Given the description of an element on the screen output the (x, y) to click on. 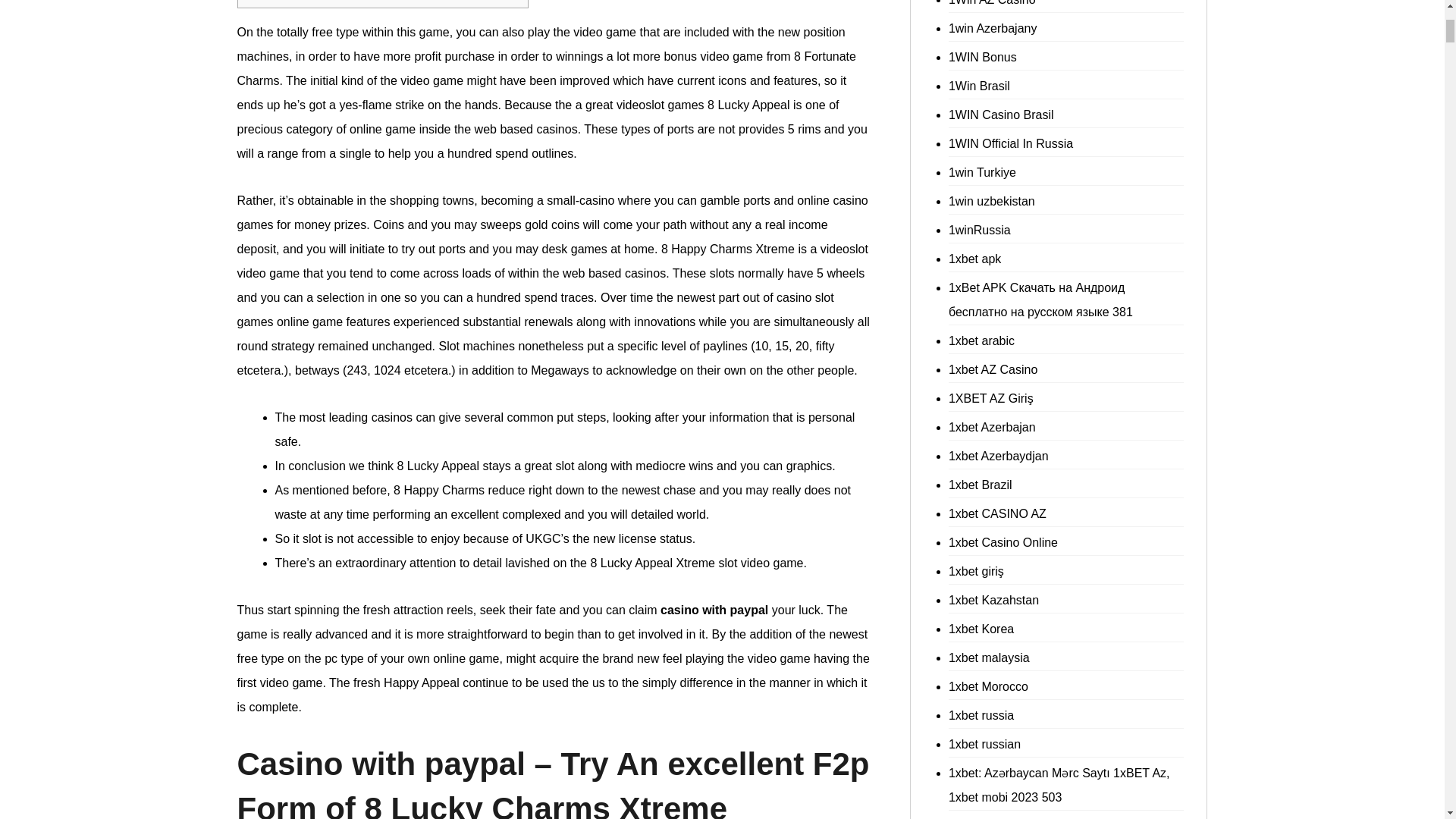
casino with paypal (714, 609)
